Given the description of an element on the screen output the (x, y) to click on. 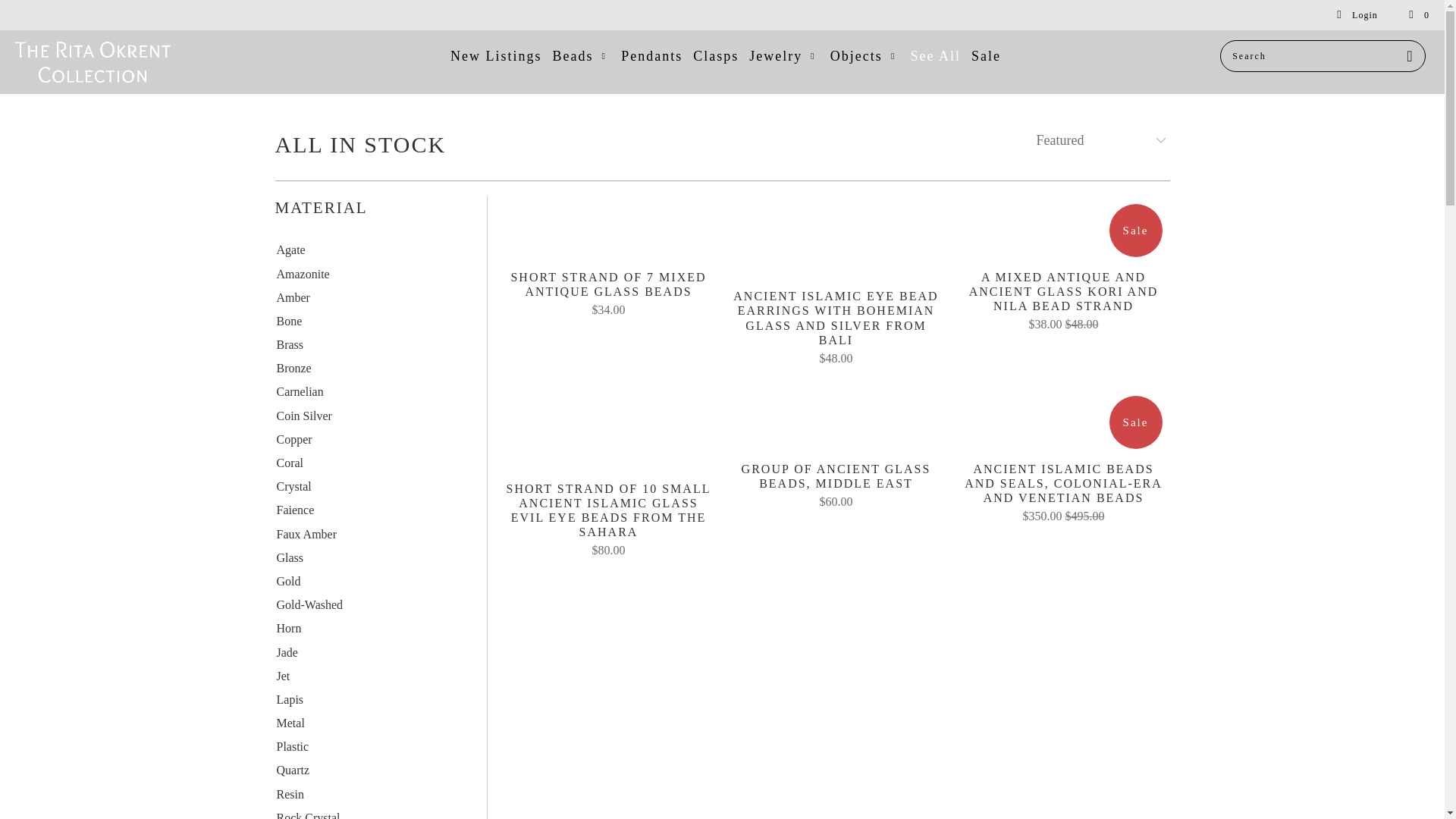
Clasps (715, 56)
Jewelry (784, 56)
My Account  (1356, 15)
Beads (580, 56)
New Listings (495, 56)
Objects (864, 56)
See All (935, 56)
Rita Okrent Collection (122, 62)
Login (1356, 15)
Pendants (651, 56)
